Given the description of an element on the screen output the (x, y) to click on. 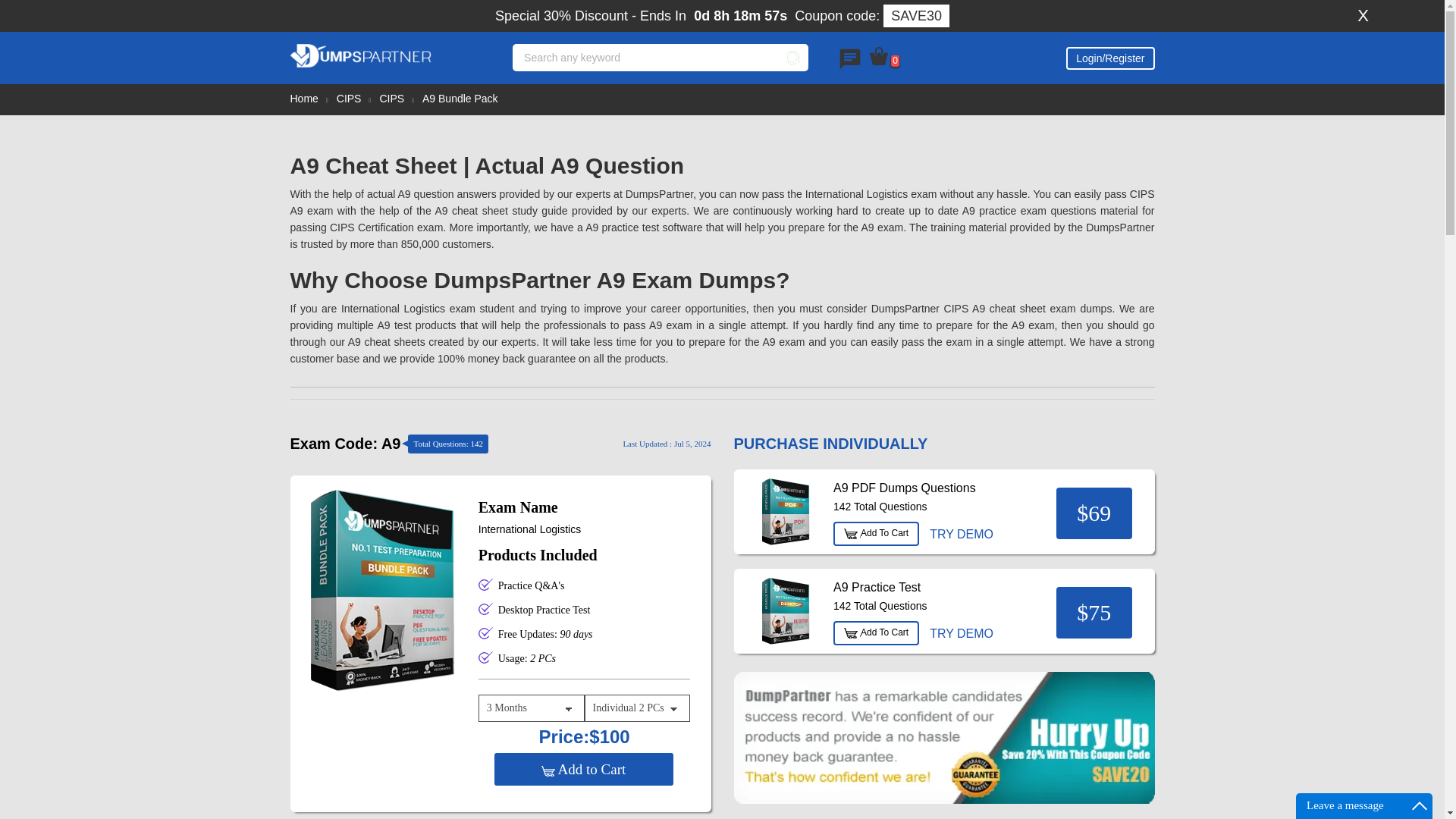
CIPS (391, 98)
Add To Cart (875, 632)
Add To Cart (875, 533)
Maximize (1419, 805)
0 (884, 55)
Home (303, 98)
TRY DEMO (960, 633)
Add to Cart (583, 769)
CIPS (348, 98)
TRY DEMO (960, 534)
